Given the description of an element on the screen output the (x, y) to click on. 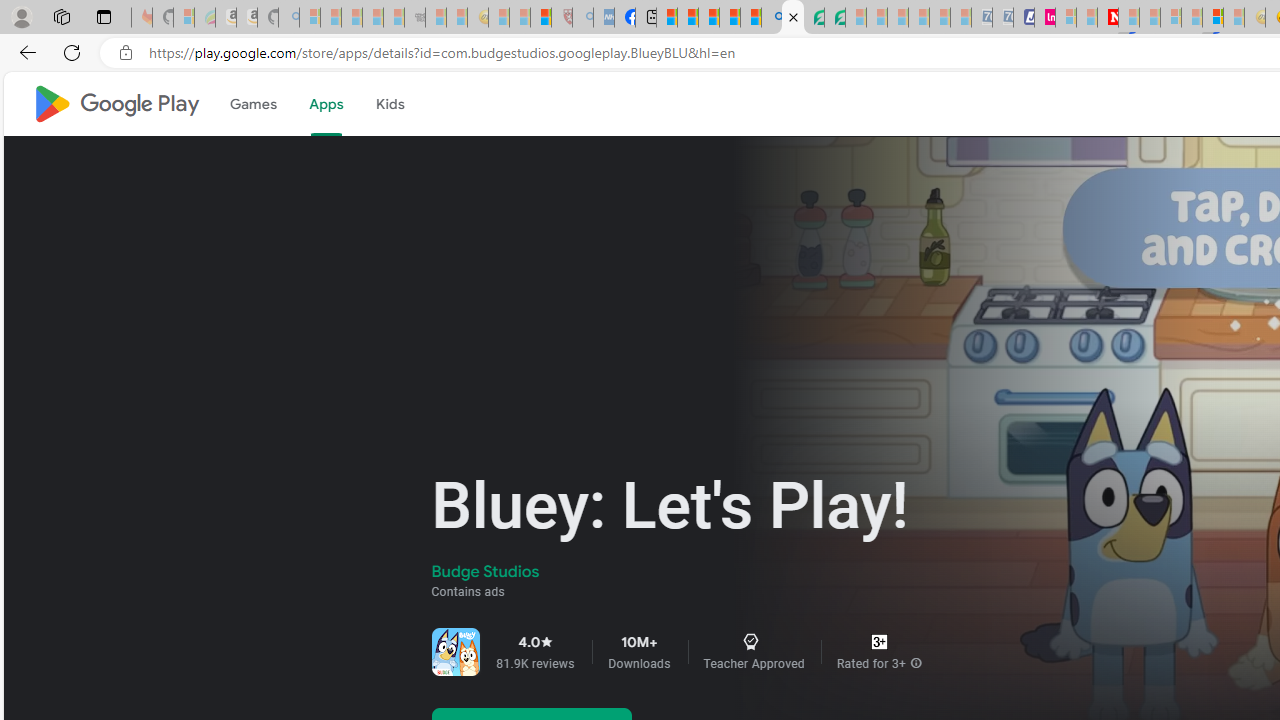
Jobs - lastminute.com Investor Portal (1044, 17)
Games (252, 104)
More info about this content rating (916, 663)
Microsoft account | Privacy - Sleeping (1066, 17)
Microsoft-Report a Concern to Bing - Sleeping (184, 17)
Pets - MSN (729, 17)
Latest Politics News & Archive | Newsweek.com (1107, 17)
Kids (389, 104)
Microsoft Word - consumer-privacy address update 2.2021 (834, 17)
